Given the description of an element on the screen output the (x, y) to click on. 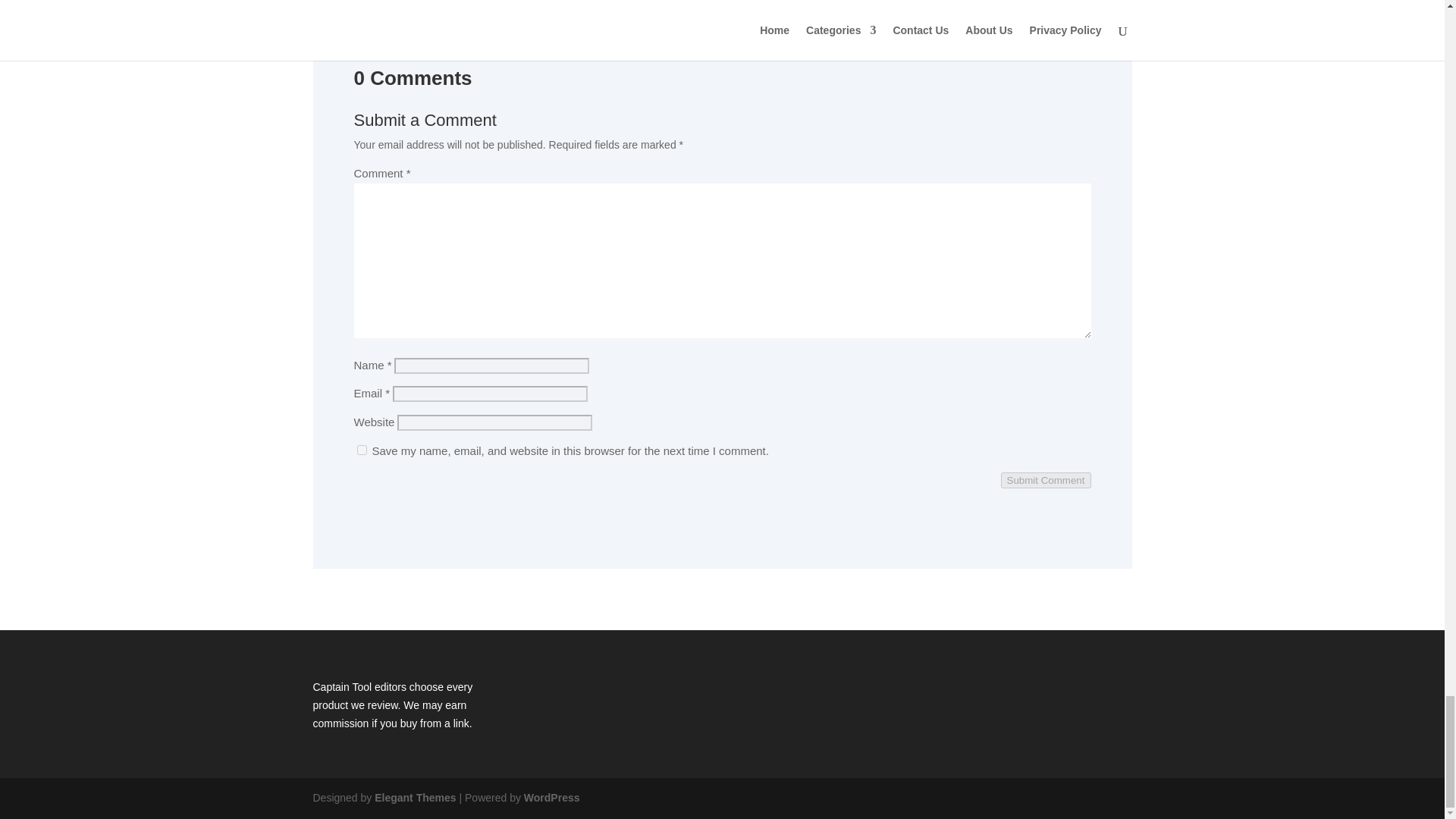
WordPress (551, 797)
yes (361, 450)
Premium WordPress Themes (414, 797)
Submit Comment (1045, 480)
Elegant Themes (414, 797)
